Given the description of an element on the screen output the (x, y) to click on. 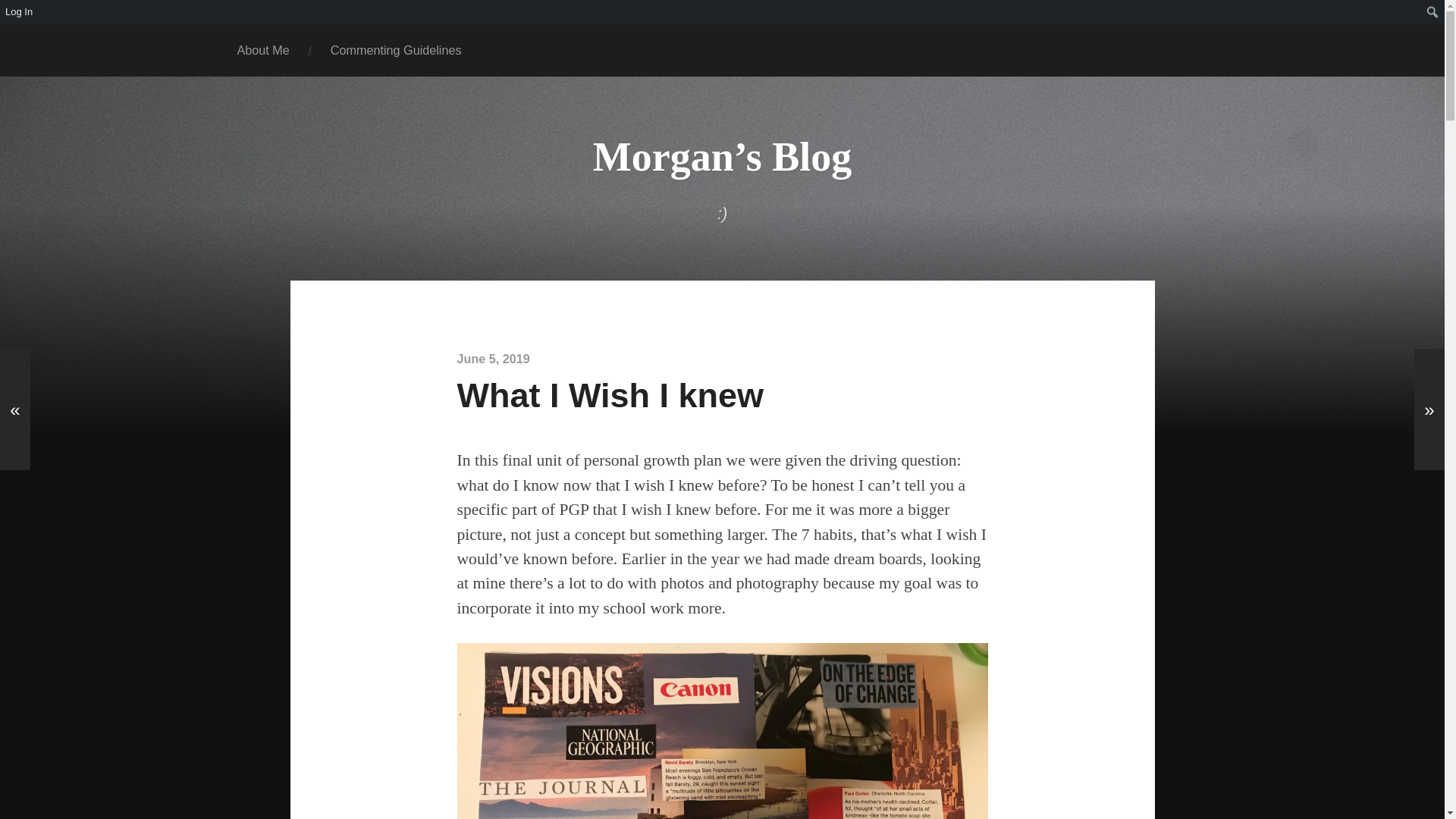
Search (15, 12)
Commenting Guidelines (395, 50)
Log In (19, 12)
About Me (263, 50)
